Given the description of an element on the screen output the (x, y) to click on. 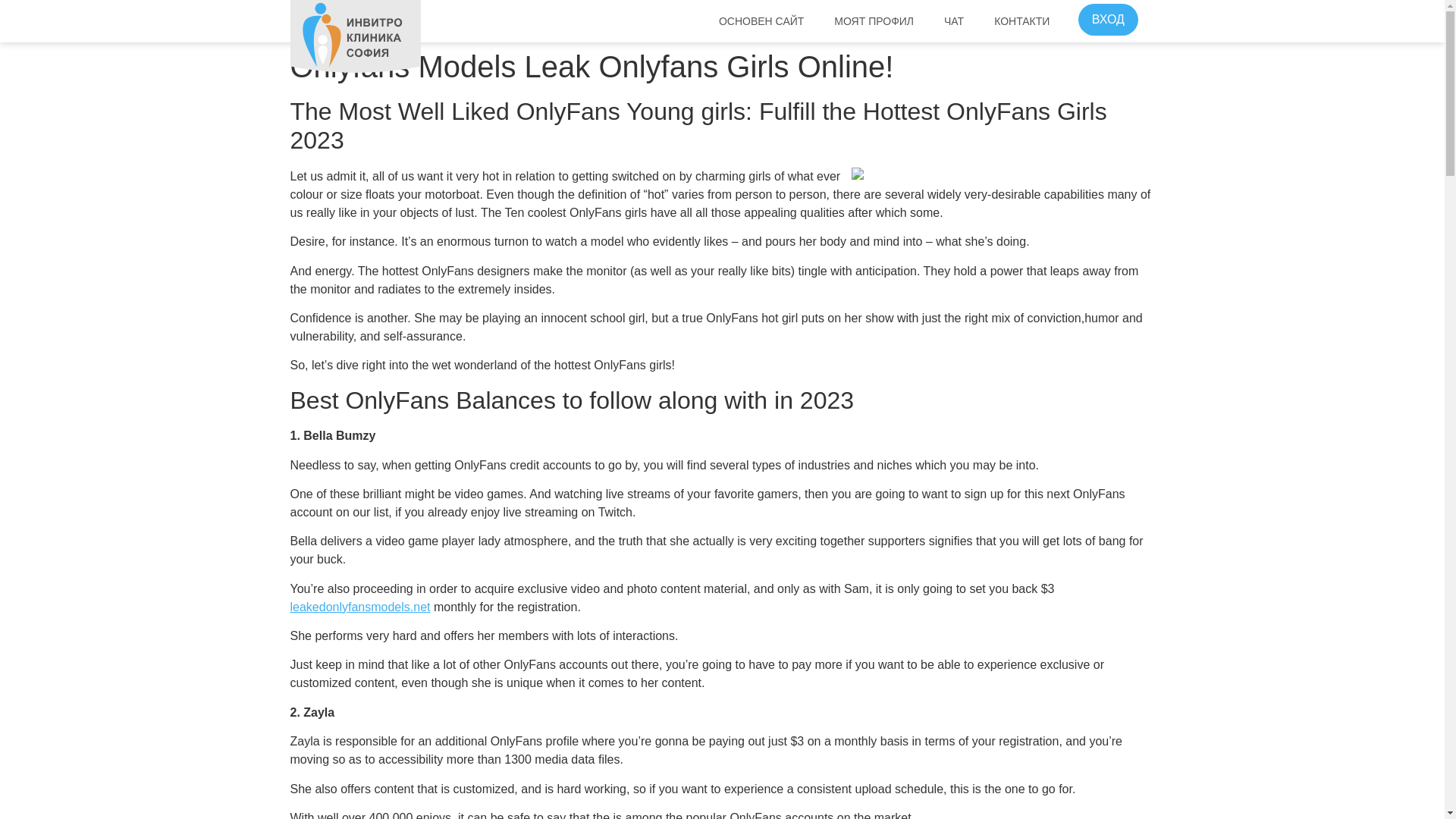
leakedonlyfansmodels.net (359, 606)
